Given the description of an element on the screen output the (x, y) to click on. 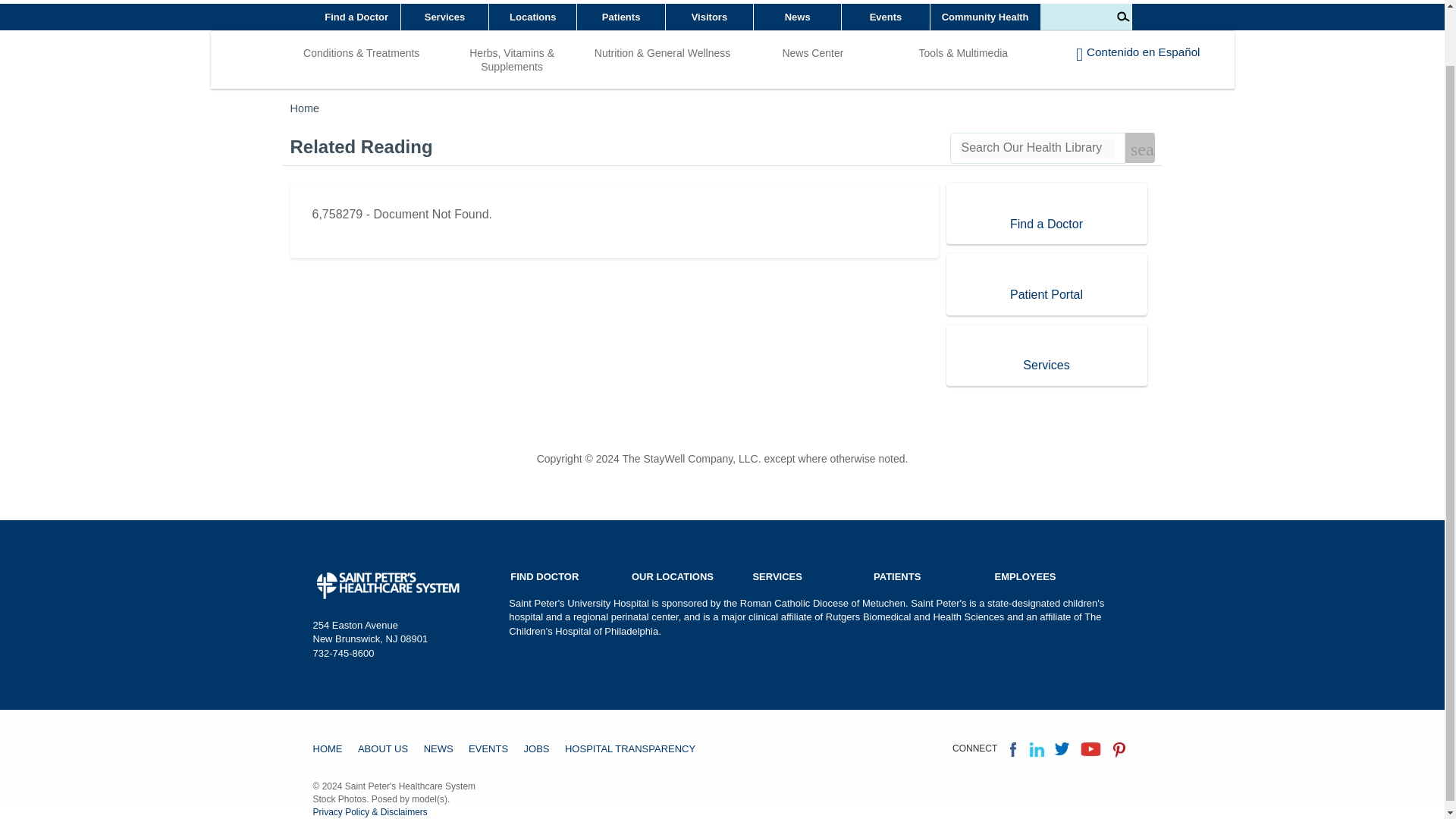
Locations (355, 17)
Patients (532, 17)
Find a Doctor (445, 17)
Services (621, 17)
